Given the description of an element on the screen output the (x, y) to click on. 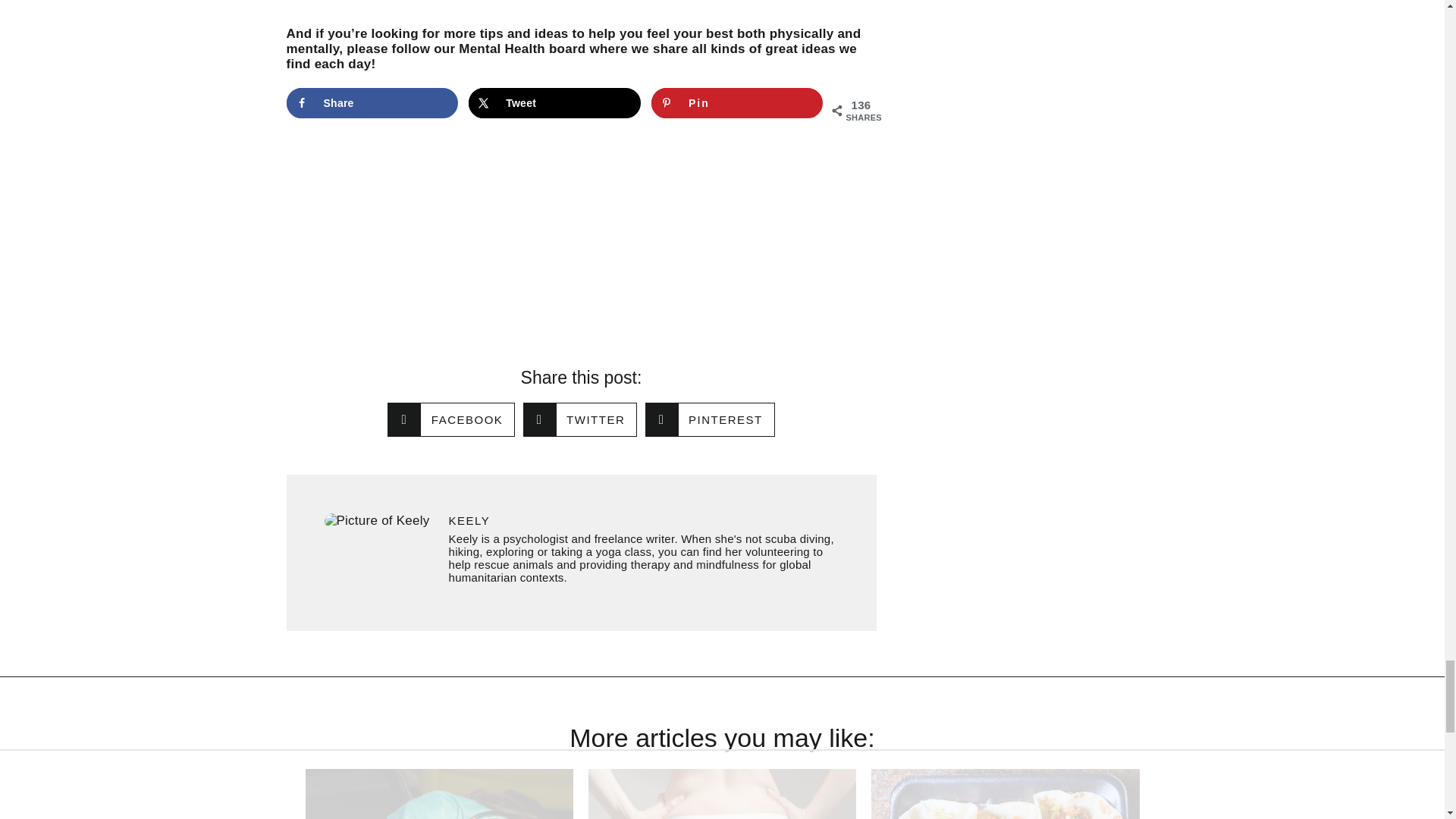
Save to Pinterest (737, 102)
Share on Facebook (372, 102)
Share on X (554, 102)
